Given the description of an element on the screen output the (x, y) to click on. 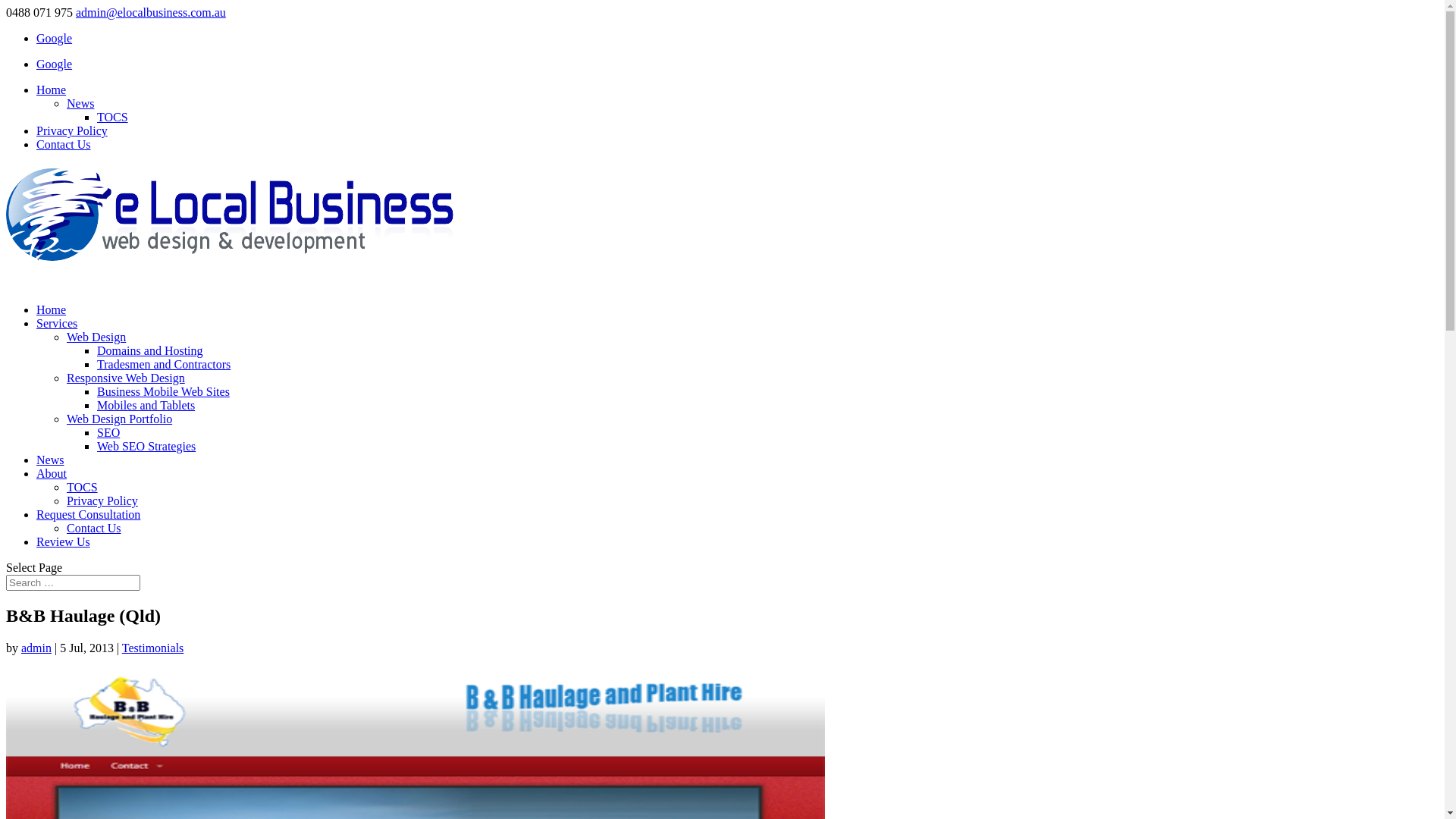
Privacy Policy Element type: text (71, 130)
Web SEO Strategies Element type: text (146, 445)
admin@elocalbusiness.com.au Element type: text (150, 12)
Google Element type: text (54, 63)
SEO Element type: text (108, 432)
TOCS Element type: text (81, 486)
Google Element type: text (54, 37)
News Element type: text (49, 473)
Contact Us Element type: text (63, 144)
Business Mobile Web Sites Element type: text (163, 391)
Search for: Element type: hover (73, 582)
Tradesmen and Contractors Element type: text (163, 363)
Privacy Policy Element type: text (102, 500)
News Element type: text (80, 103)
Mobiles and Tablets Element type: text (145, 404)
admin Element type: text (36, 647)
TOCS Element type: text (112, 116)
Web Design Element type: text (95, 336)
About Element type: text (51, 487)
Request Consultation Element type: text (88, 528)
Domains and Hosting Element type: text (150, 350)
Home Element type: text (50, 89)
Home Element type: text (50, 323)
Contact Us Element type: text (93, 527)
Services Element type: text (56, 336)
Review Us Element type: text (63, 555)
Testimonials Element type: text (153, 647)
Web Design Portfolio Element type: text (119, 418)
Responsive Web Design Element type: text (125, 377)
